Given the description of an element on the screen output the (x, y) to click on. 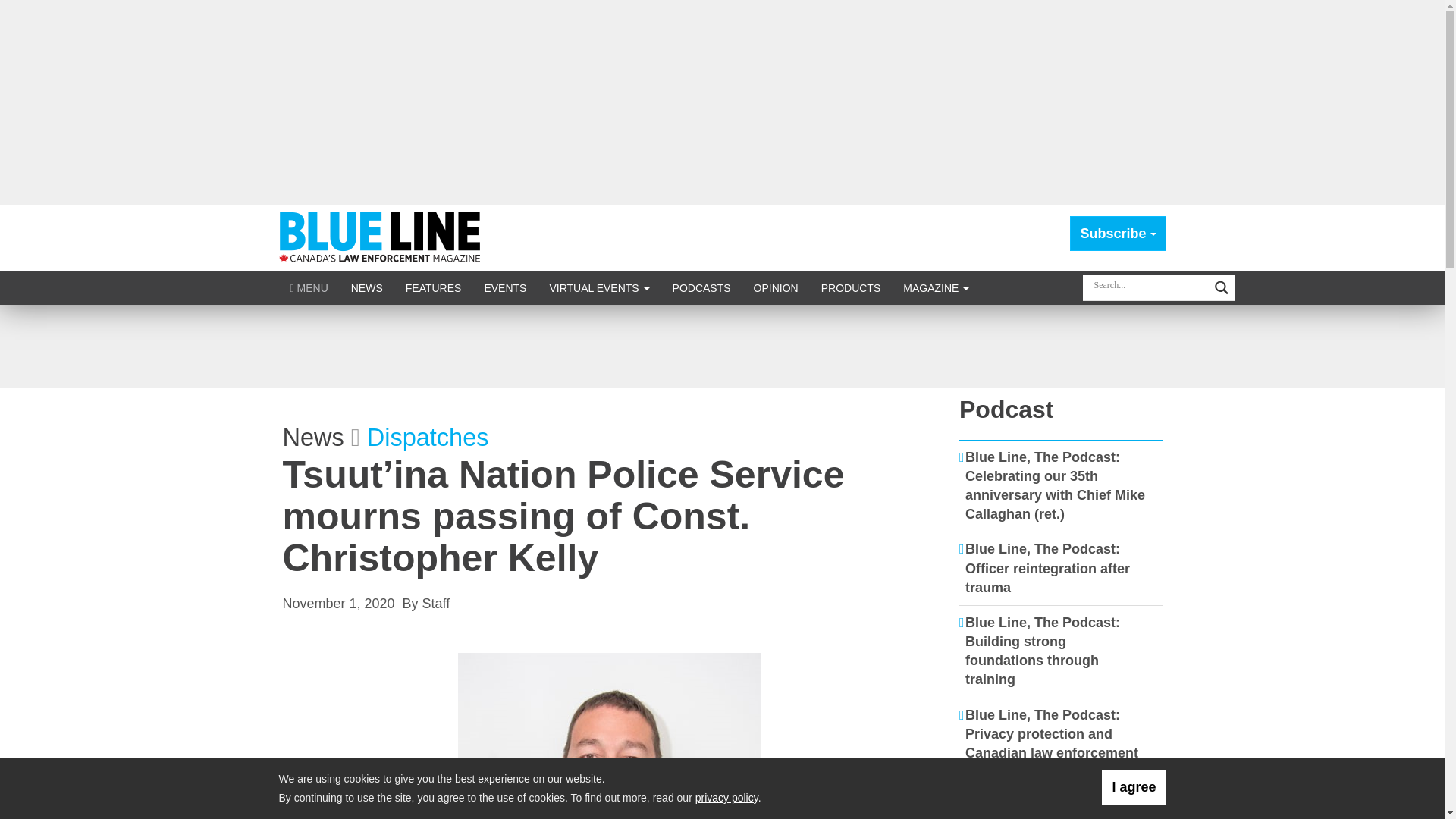
FEATURES (433, 287)
PRODUCTS (850, 287)
Blue Line (381, 236)
PODCASTS (701, 287)
EVENTS (504, 287)
Subscribe (1118, 233)
NEWS (366, 287)
3rd party ad content (721, 346)
MENU (309, 287)
VIRTUAL EVENTS (599, 287)
Click to show site navigation (309, 287)
MAGAZINE (935, 287)
OPINION (775, 287)
